Given the description of an element on the screen output the (x, y) to click on. 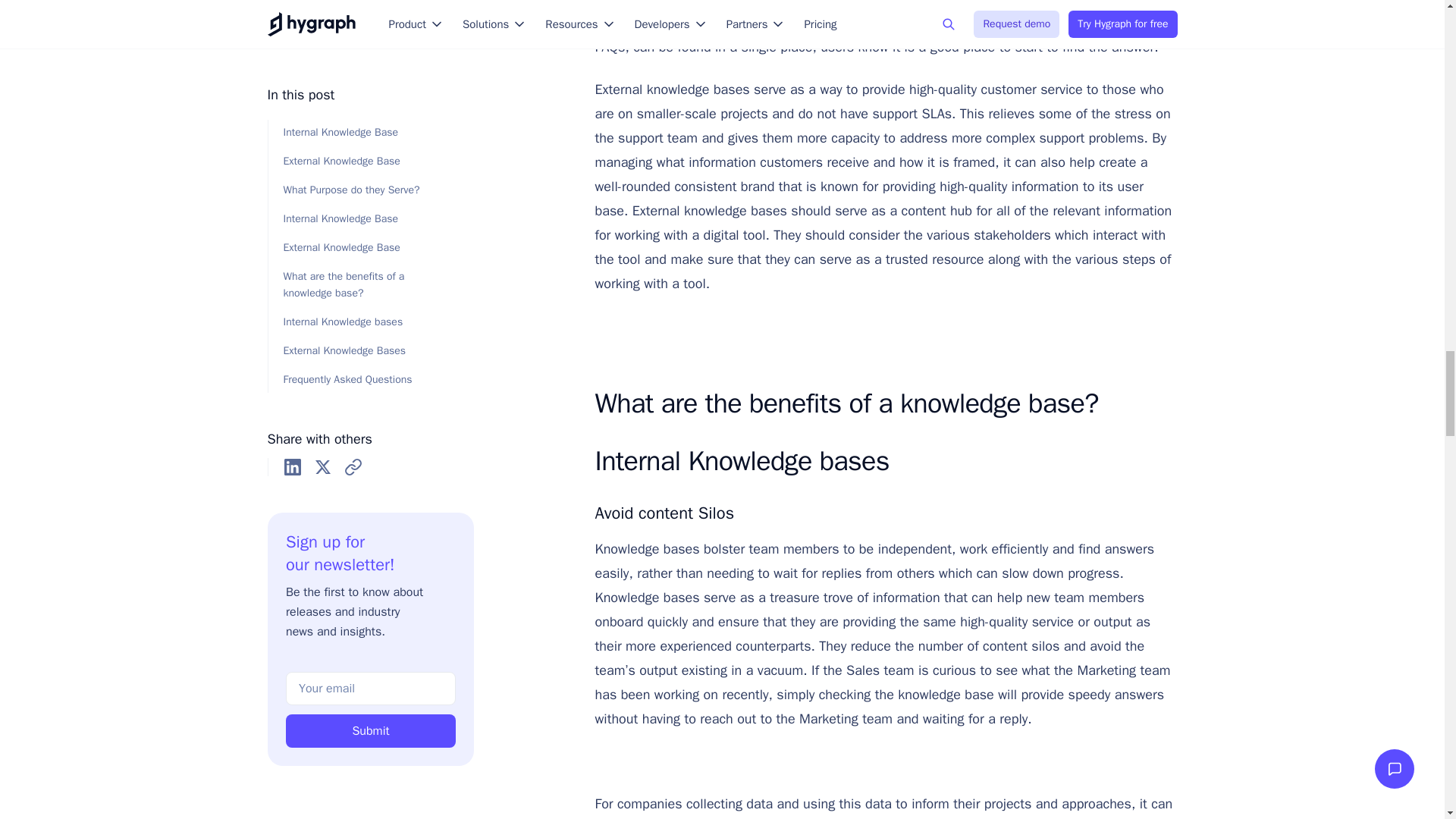
Internal Knowledge bases (879, 460)
What are the benefits of a knowledge base? (879, 403)
